Given the description of an element on the screen output the (x, y) to click on. 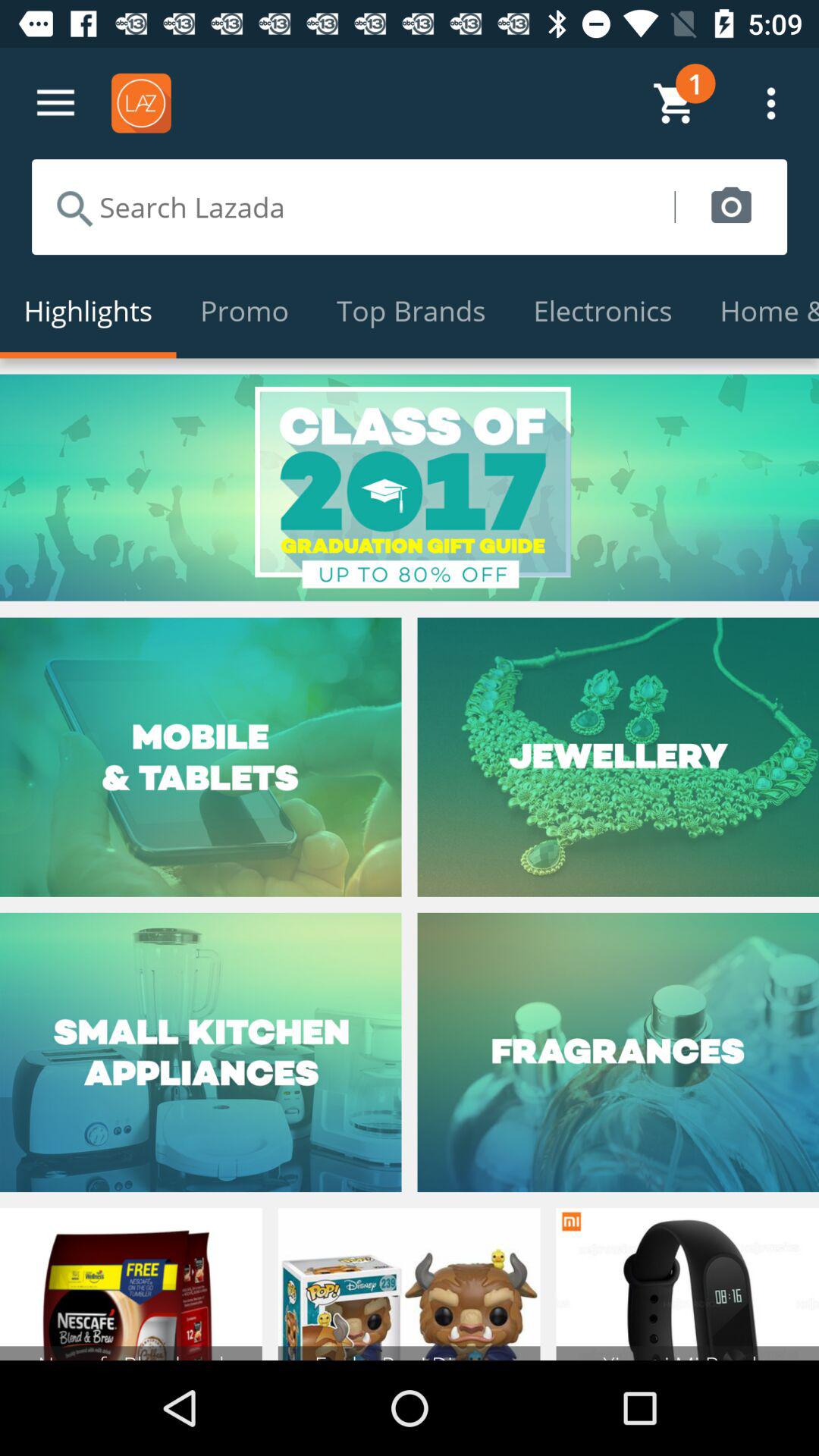
tap item below the highlights icon (409, 487)
